Given the description of an element on the screen output the (x, y) to click on. 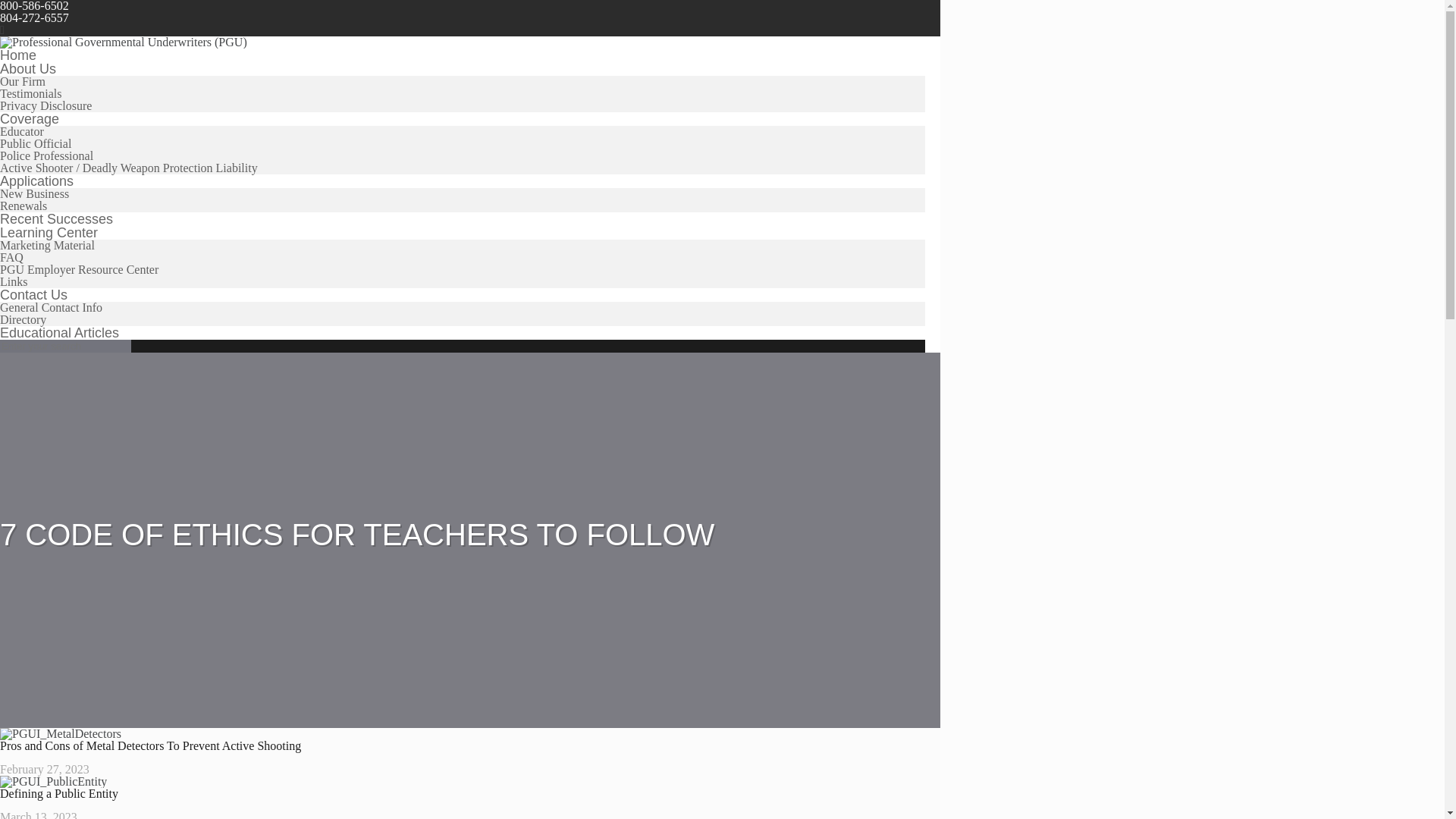
Coverage (29, 118)
Educational Articles (59, 332)
Privacy Disclosure (45, 105)
PGU Employer Resource Center (79, 269)
Contact Us (33, 294)
Public Official (35, 143)
800-586-6502 (34, 6)
Applications (37, 181)
804-272-6557 (34, 17)
Our Firm (22, 81)
